Given the description of an element on the screen output the (x, y) to click on. 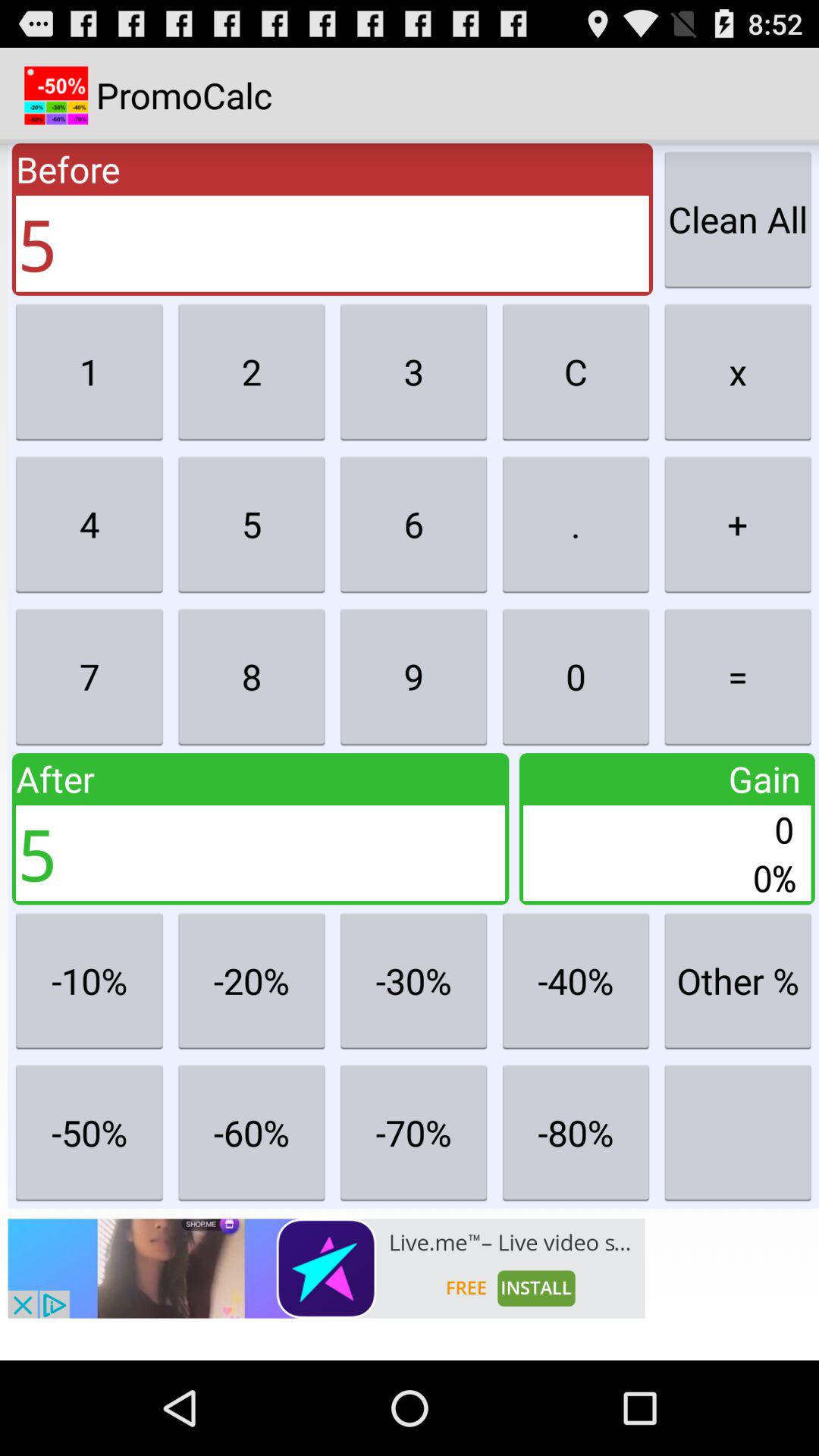
open advert (325, 1268)
